Given the description of an element on the screen output the (x, y) to click on. 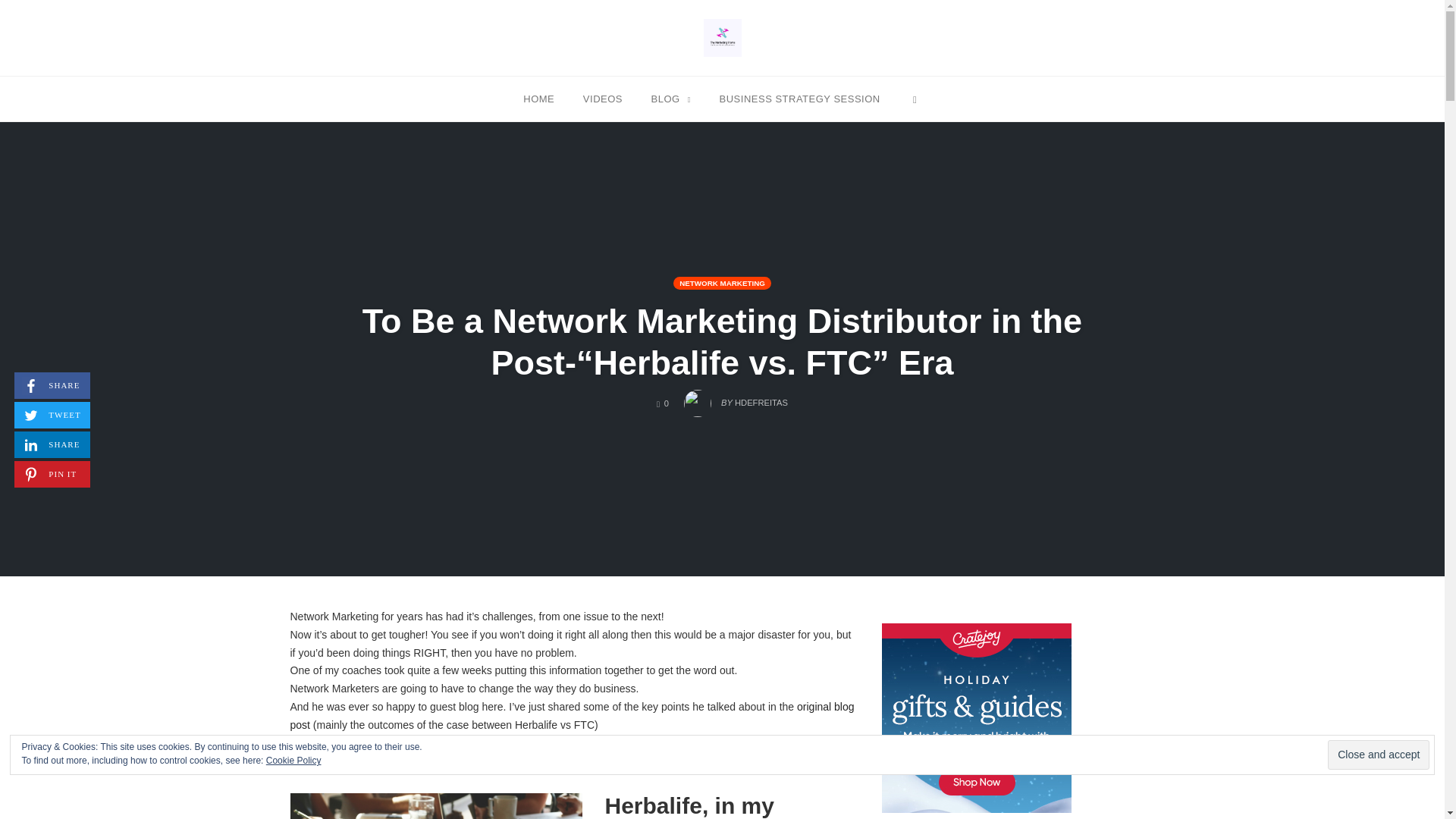
original blog post (571, 716)
this link (464, 743)
HOME (538, 97)
OPEN SEARCH FORM (914, 97)
BY HDEFREITAS (735, 398)
NETWORK MARKETING (721, 282)
The Marketing Moms (722, 37)
BLOG (670, 97)
Cookie Policy (293, 760)
